Given the description of an element on the screen output the (x, y) to click on. 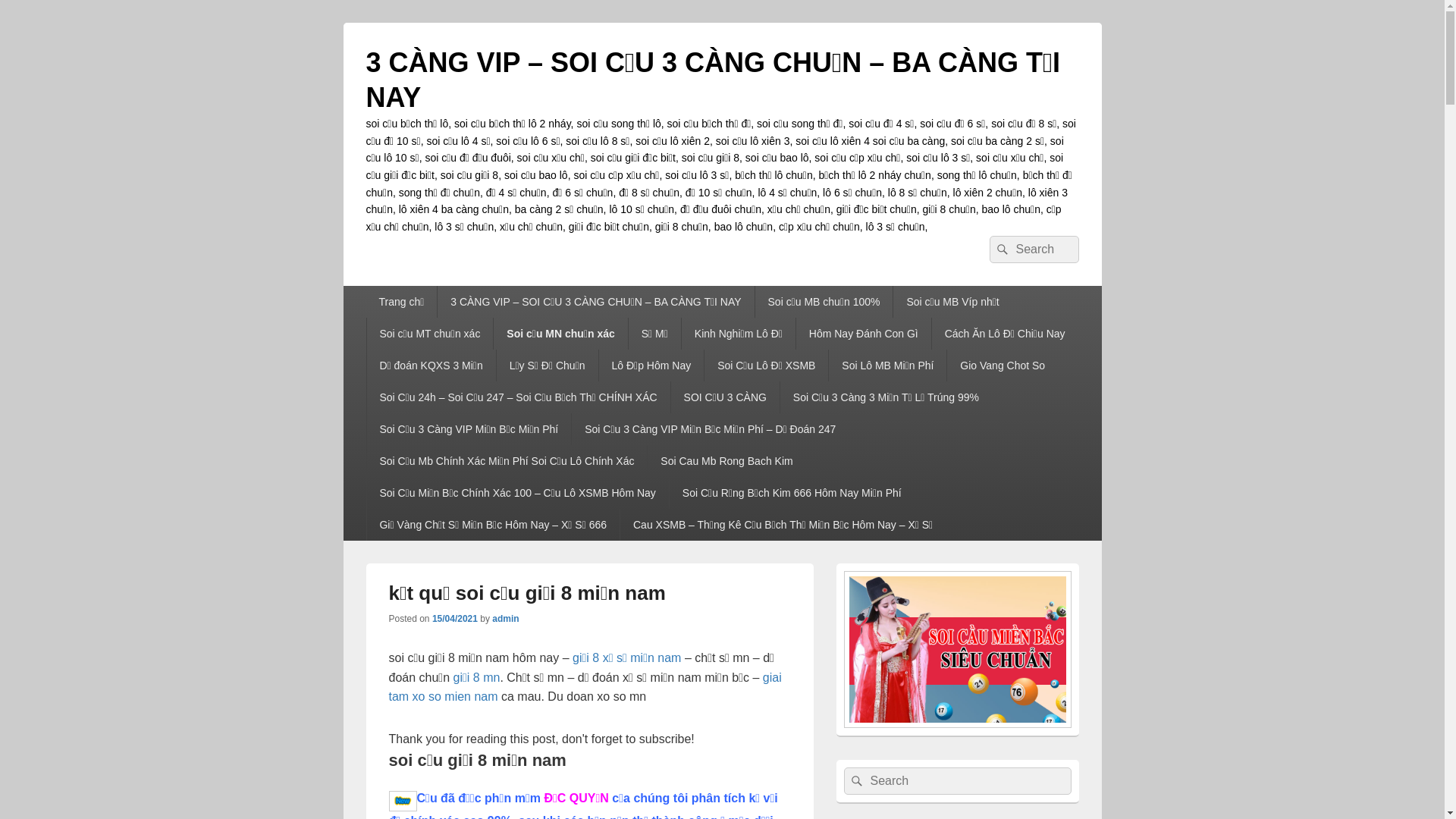
Soi Cau Mb Rong Bach Kim Element type: text (726, 460)
giai tam xo so mien nam Element type: text (584, 687)
Search Element type: text (854, 780)
Search for: Element type: hover (956, 780)
15/04/2021 Element type: text (454, 618)
Gio Vang Chot So Element type: text (1002, 365)
admin Element type: text (505, 618)
Search Element type: text (999, 249)
Search for: Element type: hover (1033, 249)
